Given the description of an element on the screen output the (x, y) to click on. 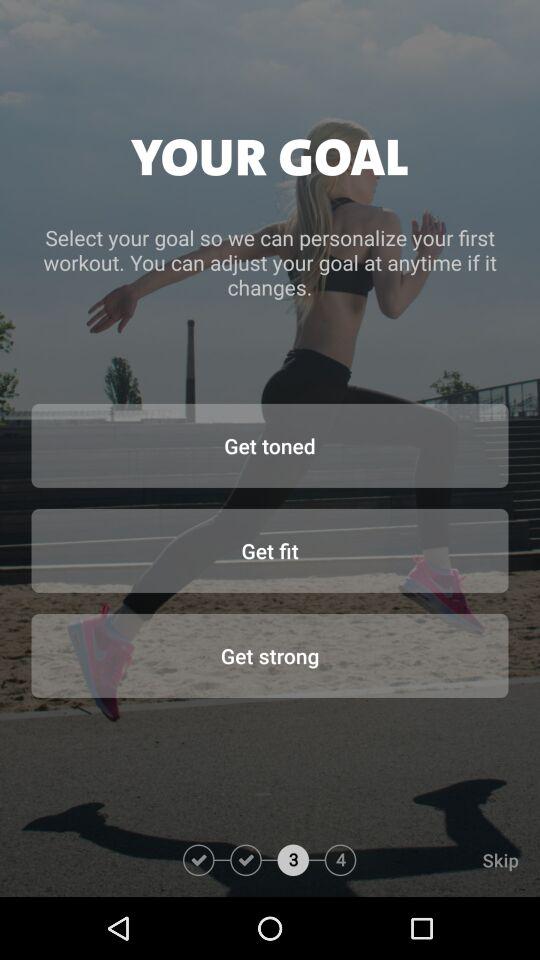
open item below get toned (269, 550)
